Given the description of an element on the screen output the (x, y) to click on. 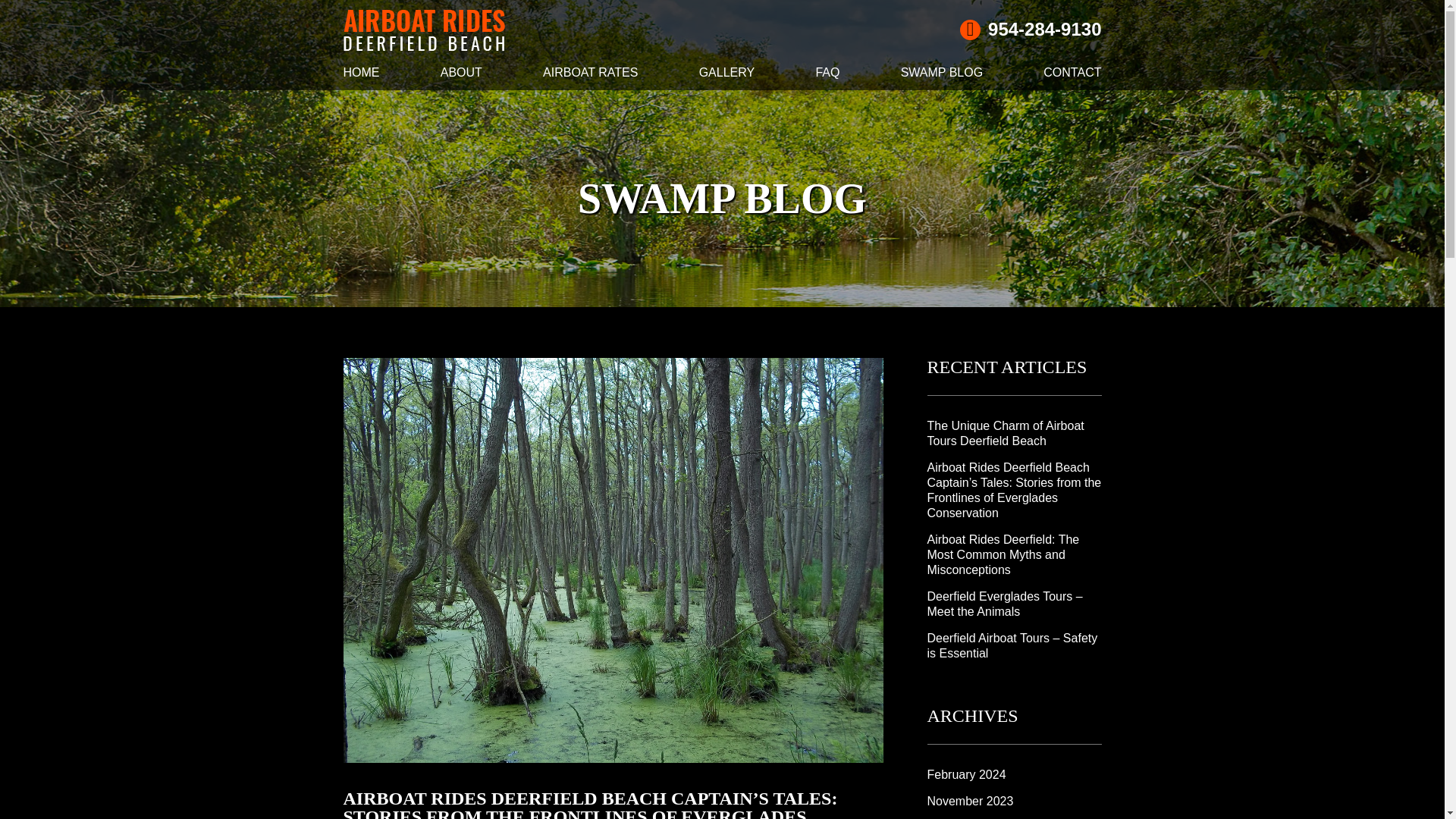
November 2023 (969, 800)
The Unique Charm of Airboat Tours Deerfield Beach (1004, 433)
SWAMP BLOG (941, 76)
FAQ (827, 76)
CONTACT (1071, 76)
954-284-9130 (1029, 28)
February 2024 (966, 774)
AIRBOAT RATES (590, 76)
HOME (360, 76)
GALLERY (726, 76)
ABOUT (461, 76)
